Given the description of an element on the screen output the (x, y) to click on. 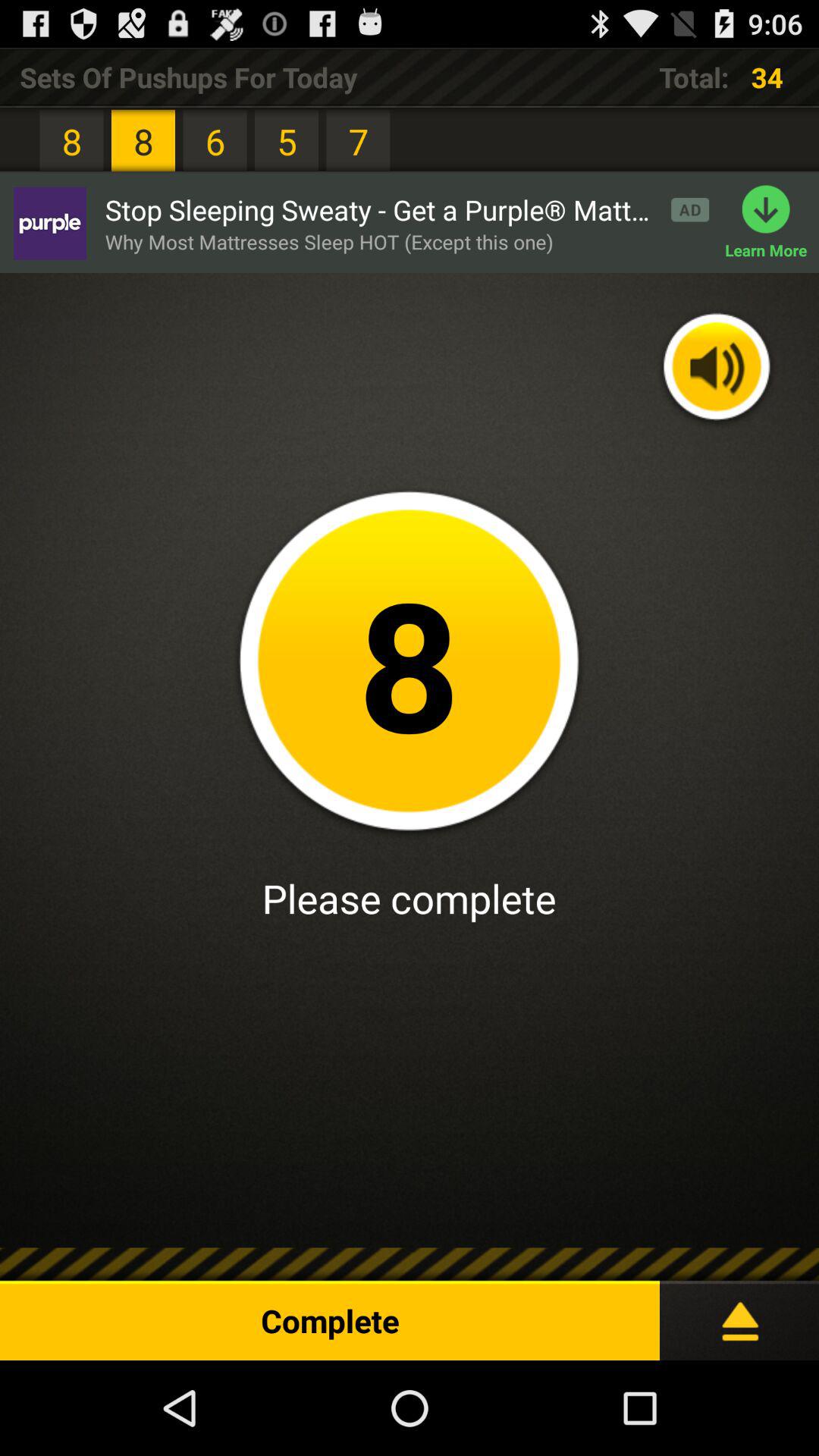
expand menu (739, 1314)
